Given the description of an element on the screen output the (x, y) to click on. 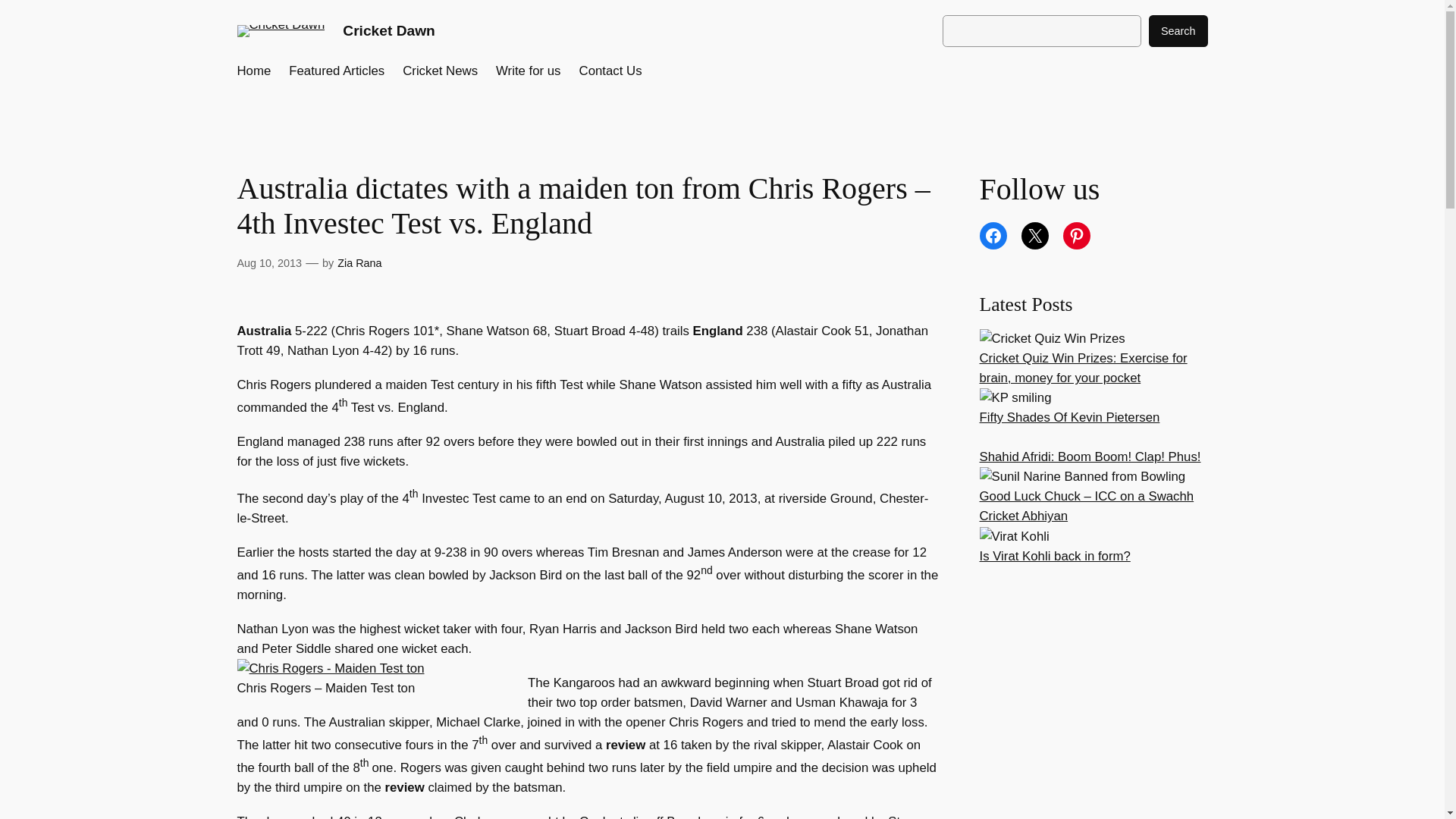
Search (1178, 30)
Zia Rana (359, 263)
Home (252, 71)
Cricket News (440, 71)
X (1035, 235)
Pinterest (1076, 235)
Fifty Shades Of Kevin Pietersen (1069, 417)
Aug 10, 2013 (268, 263)
Shahid Afridi: Boom Boom! Clap! Phus! (1090, 456)
